Given the description of an element on the screen output the (x, y) to click on. 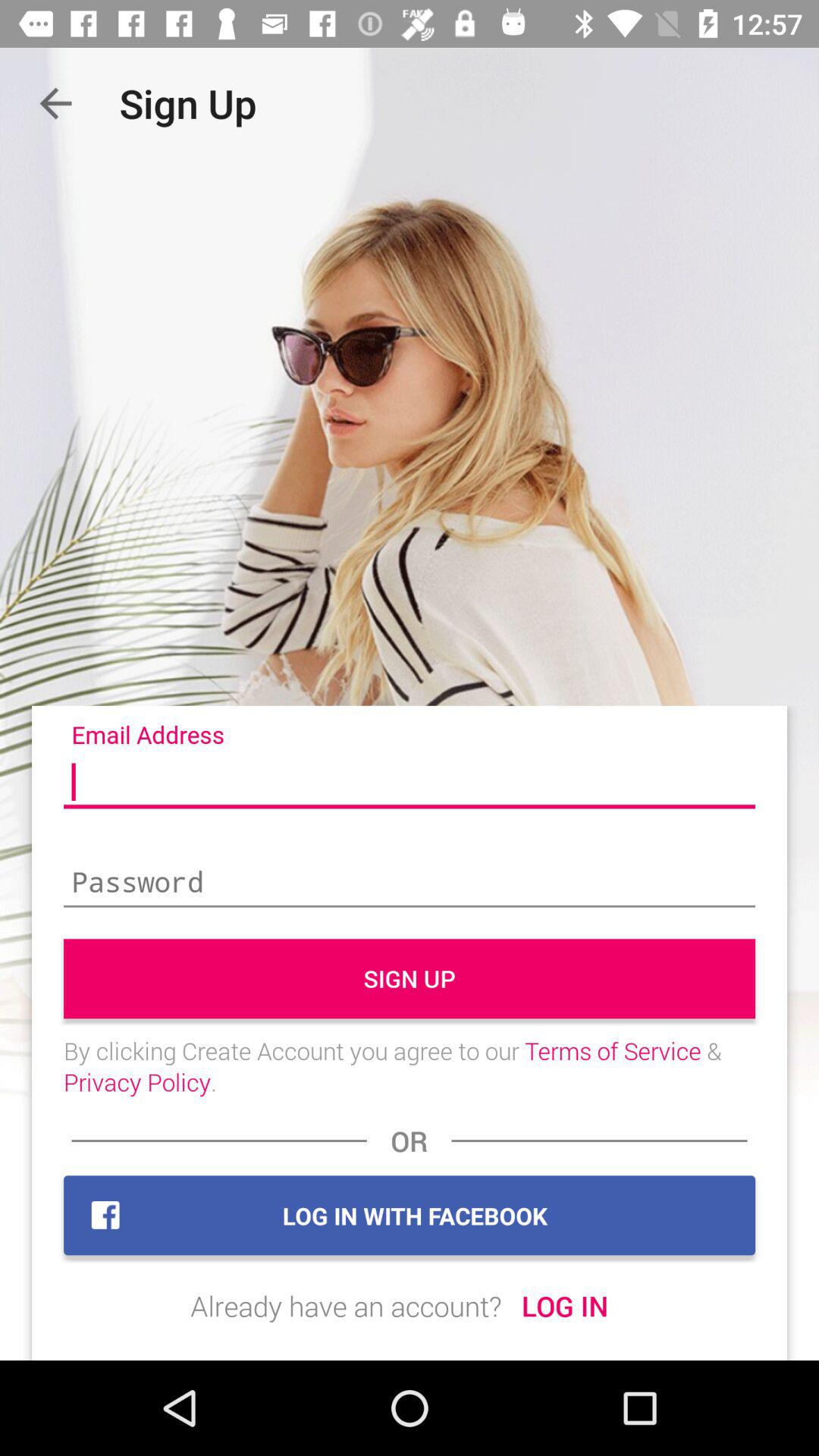
click icon to the left of the log in icon (345, 1305)
